Given the description of an element on the screen output the (x, y) to click on. 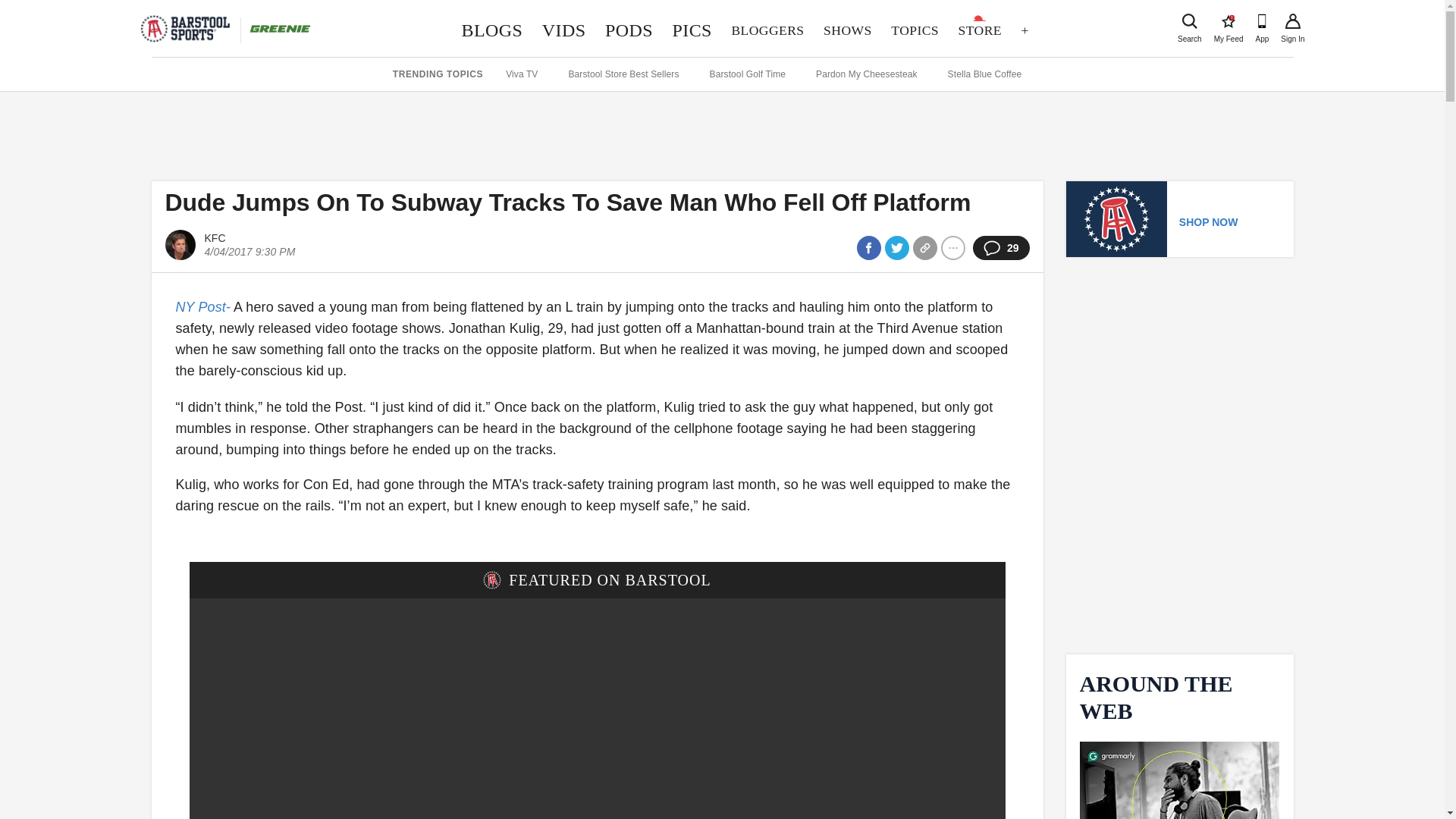
3rd party ad content (721, 131)
BLOGGERS (767, 30)
BLOGS (491, 30)
PODS (628, 30)
Search (1189, 20)
SHOWS (846, 30)
VIDS (563, 30)
TOPICS (1228, 20)
Sign Up (913, 30)
PICS (1292, 20)
